Given the description of an element on the screen output the (x, y) to click on. 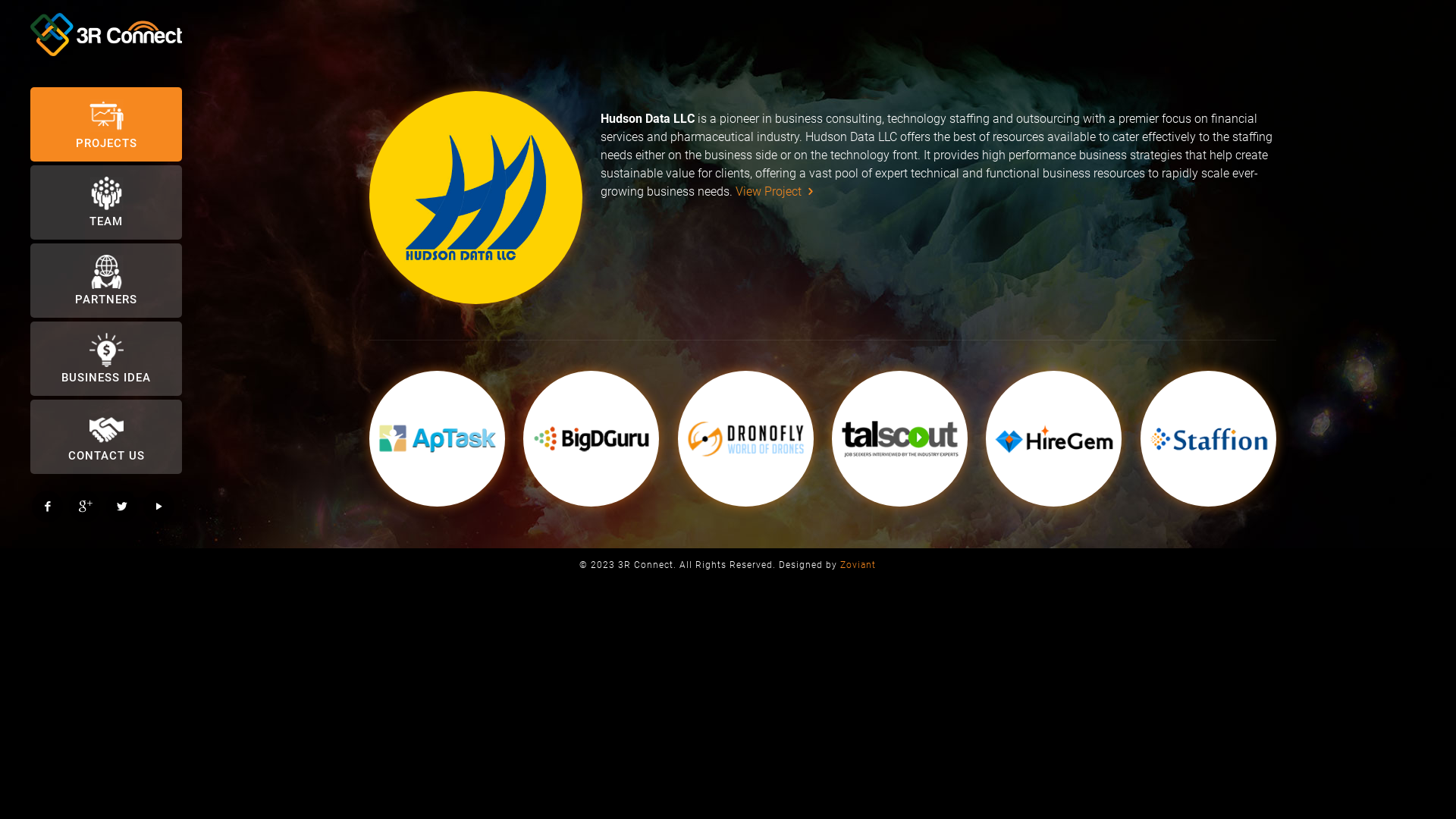
Twitter Element type: hover (121, 506)
CONTACT US Element type: text (106, 436)
PROJECTS Element type: text (106, 124)
YouTube Element type: hover (158, 506)
View Project Element type: text (776, 191)
Facebook Element type: hover (46, 506)
PARTNERS Element type: text (106, 280)
3R Connect Element type: hover (106, 33)
Google+ Element type: hover (84, 506)
TEAM Element type: text (106, 202)
BUSINESS IDEA Element type: text (106, 358)
Zoviant Element type: text (857, 564)
